Given the description of an element on the screen output the (x, y) to click on. 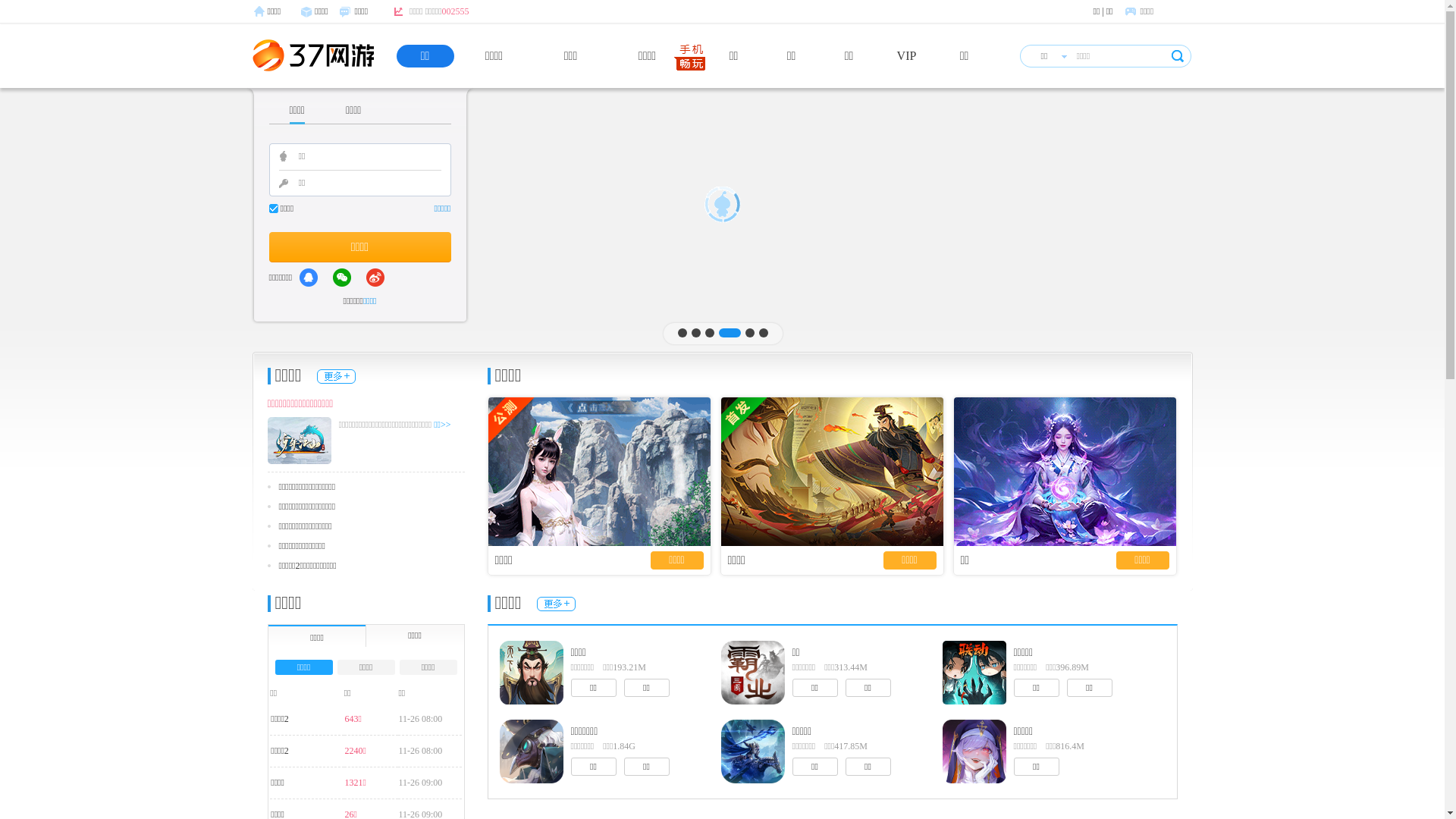
QQ Element type: hover (308, 277)
VIP Element type: text (906, 55)
